Given the description of an element on the screen output the (x, y) to click on. 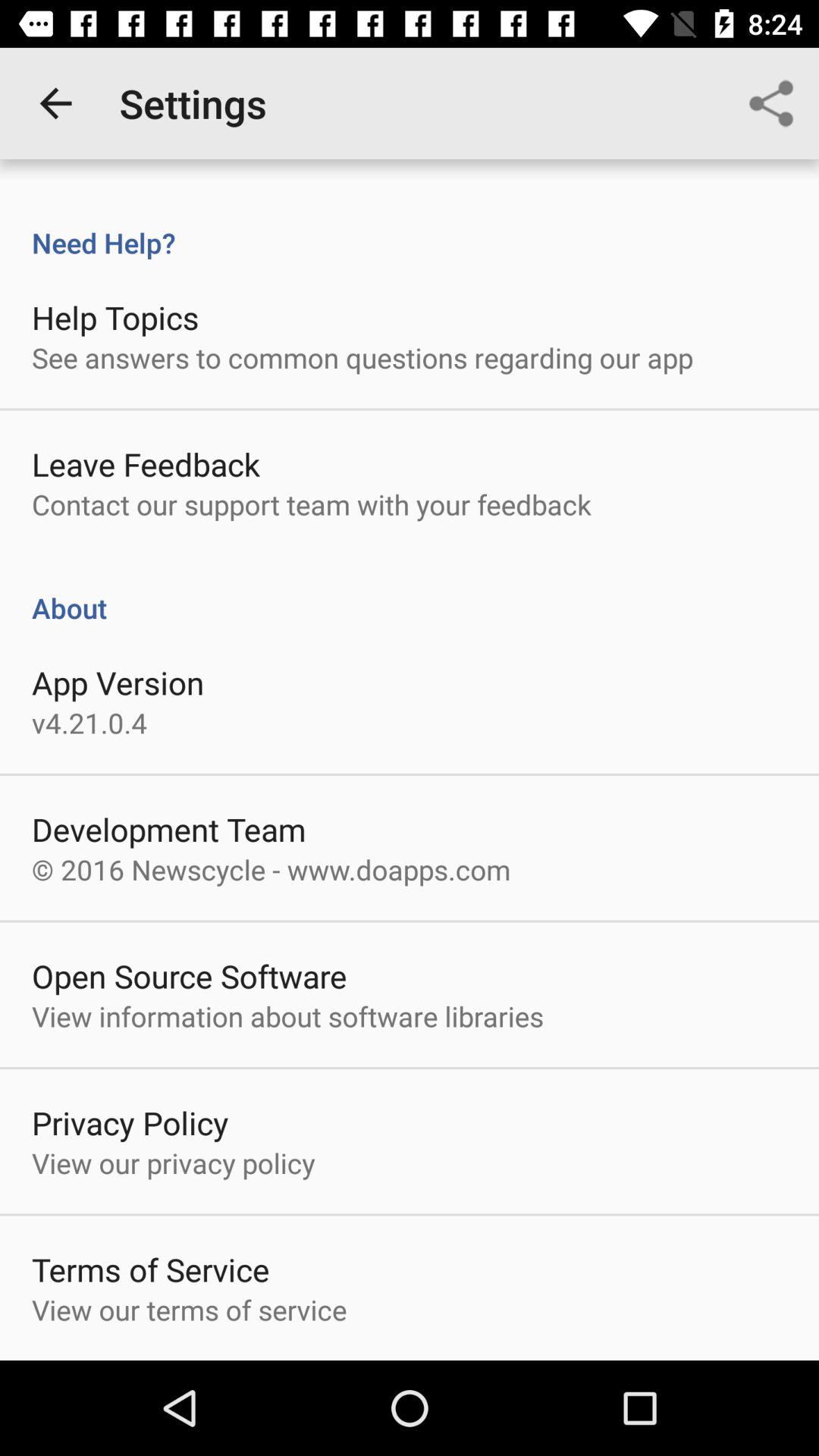
launch the 2016 newscycle www item (270, 869)
